Given the description of an element on the screen output the (x, y) to click on. 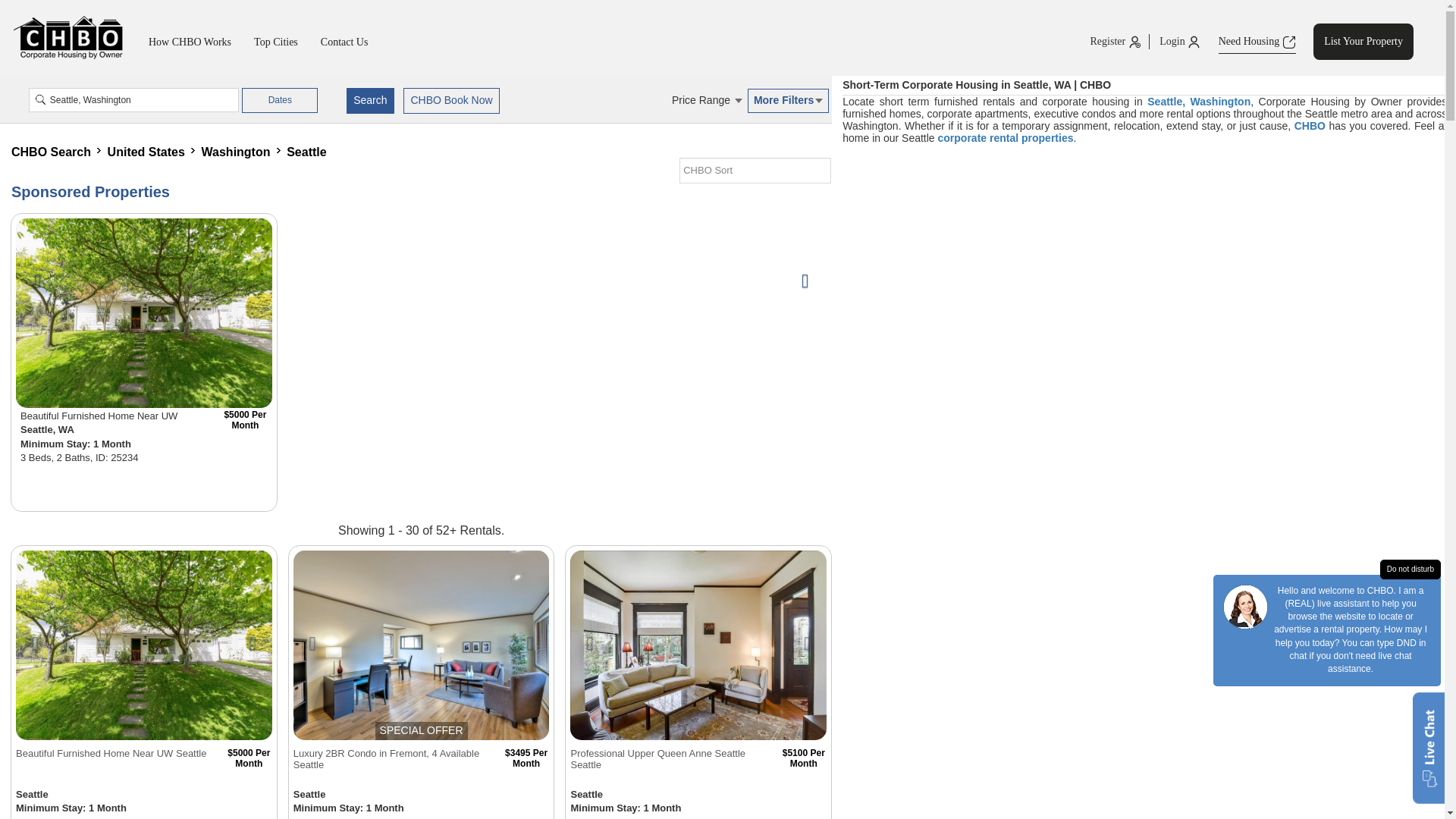
Top Cities (275, 42)
Seattle, Washington (134, 99)
CHBO Book Now (451, 100)
How CHBO Works (189, 42)
Search (369, 100)
Seattle, Washington (134, 99)
Search (369, 100)
